Given the description of an element on the screen output the (x, y) to click on. 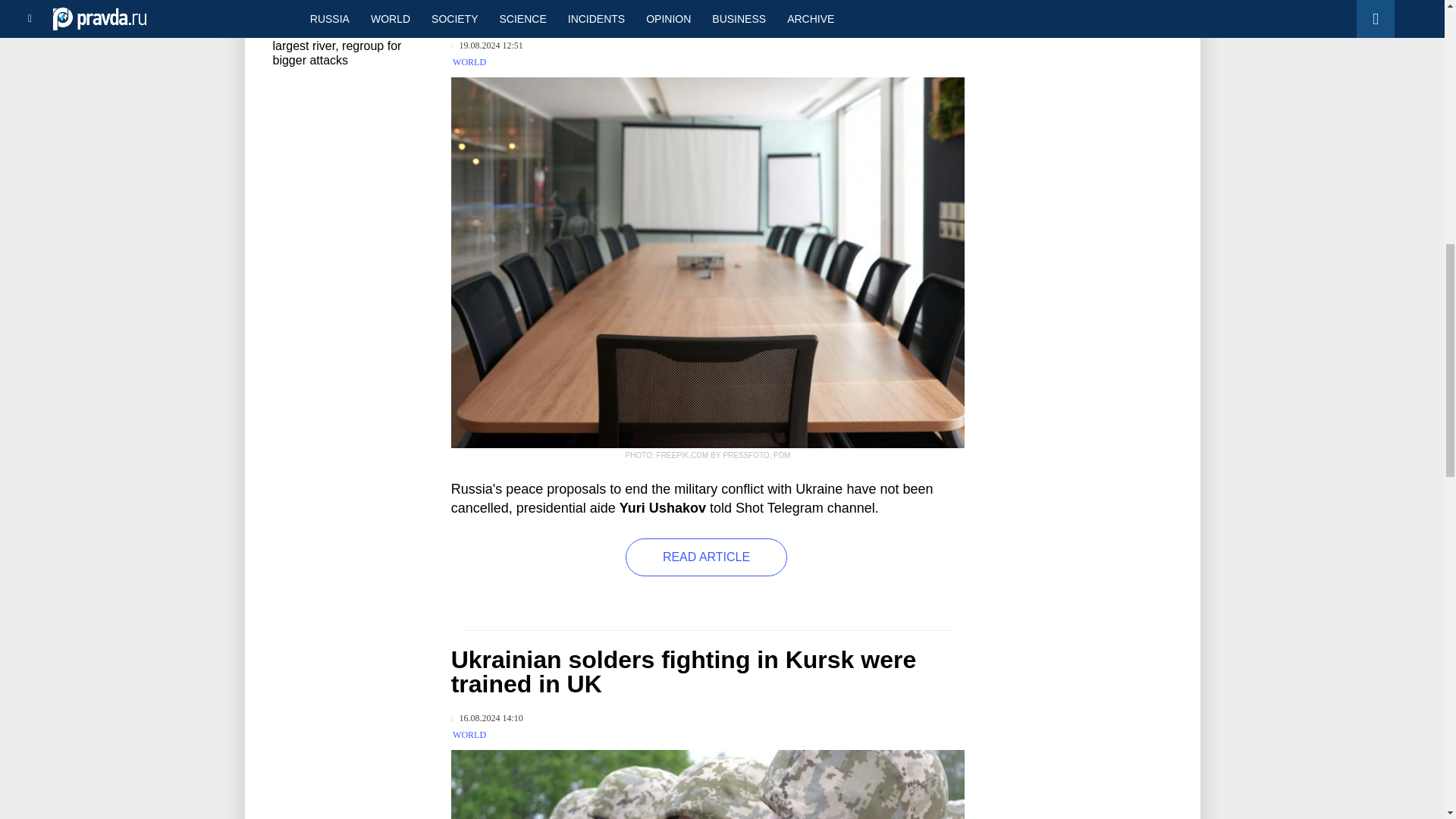
Published (486, 717)
Ukrainian soldiers underwent urban combat training in UK (708, 784)
Published (486, 45)
Back to top (1418, 79)
WORLD (469, 61)
